Given the description of an element on the screen output the (x, y) to click on. 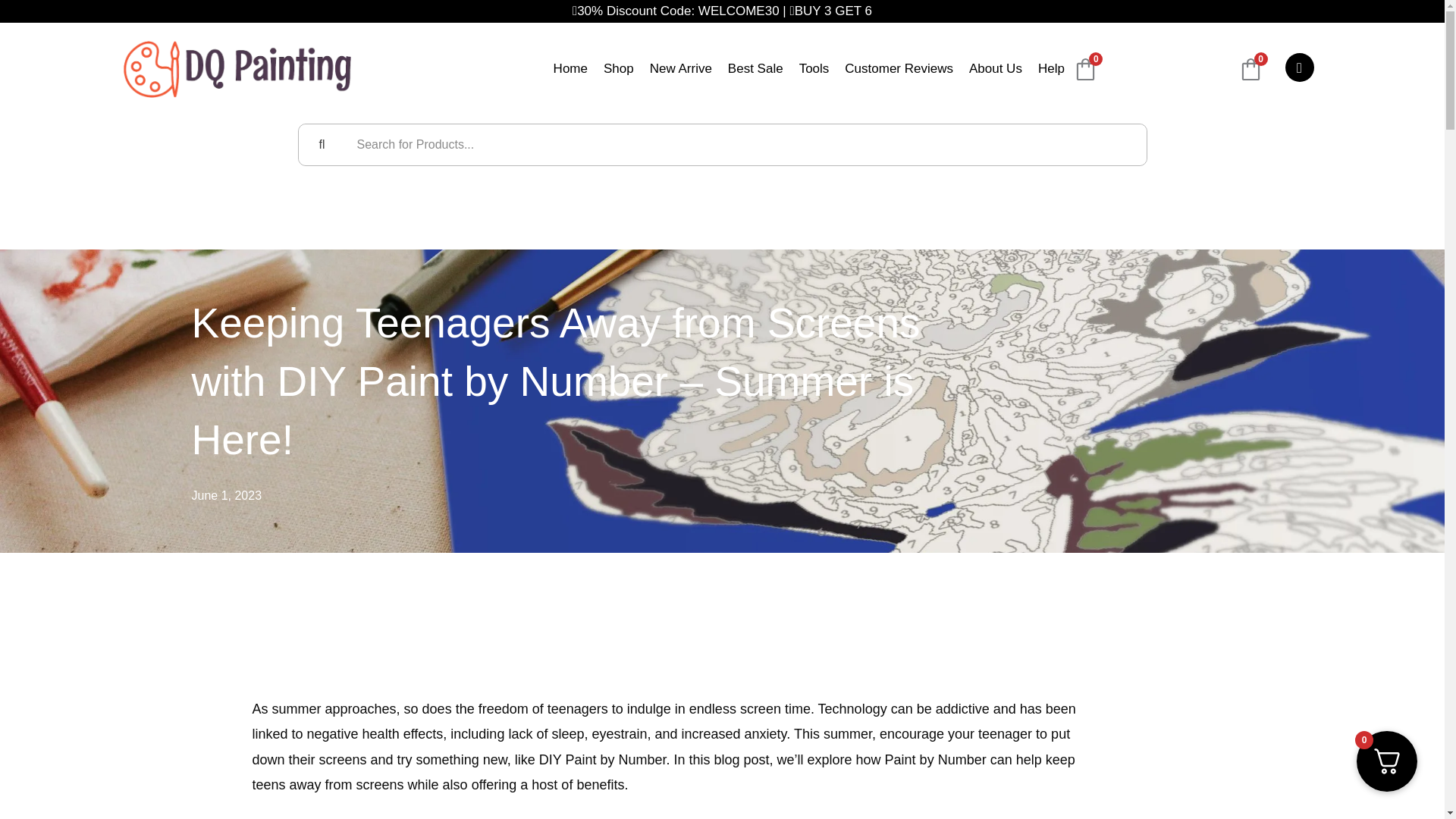
Shop (618, 69)
Customer Reviews (898, 69)
Best Sale (755, 69)
Home (570, 69)
Help (1051, 69)
About Us (995, 69)
Tools (814, 69)
New Arrive (680, 69)
